Given the description of an element on the screen output the (x, y) to click on. 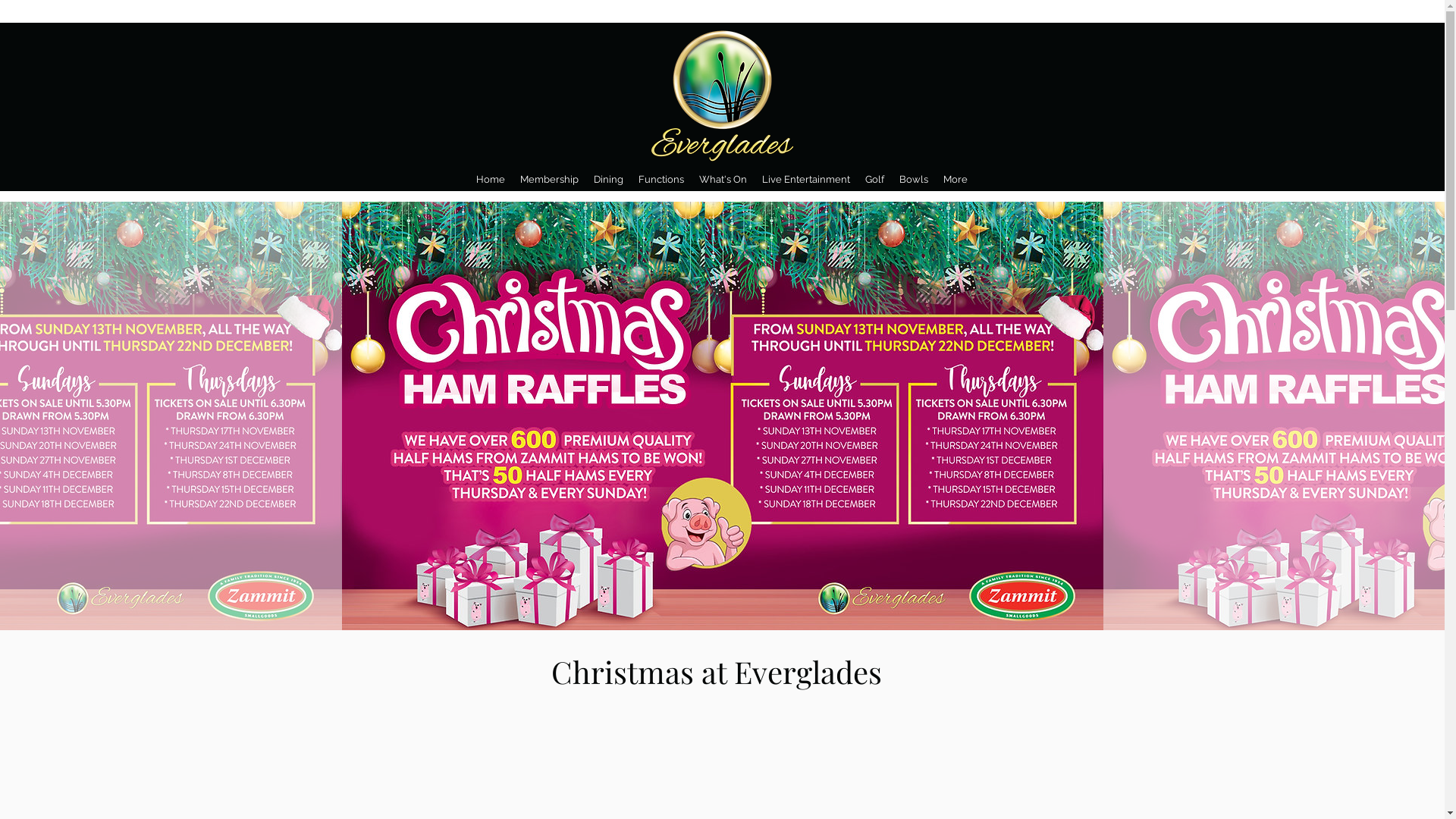
Membership Element type: text (549, 179)
Dining Element type: text (607, 179)
Live Entertainment Element type: text (804, 179)
Home Element type: text (490, 179)
What's On Element type: text (722, 179)
Bowls Element type: text (913, 179)
Functions Element type: text (660, 179)
Golf Element type: text (873, 179)
